Given the description of an element on the screen output the (x, y) to click on. 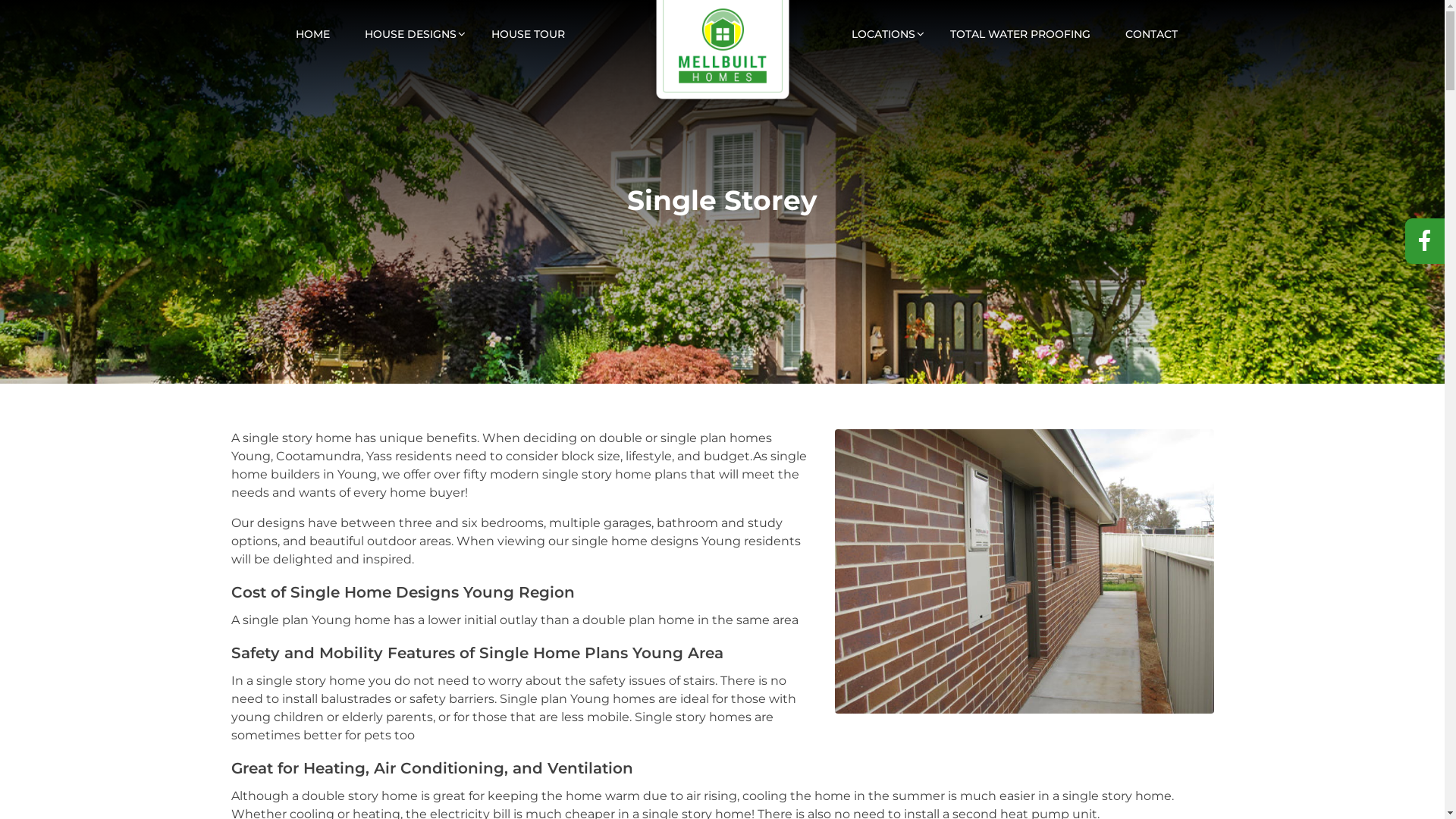
HOUSE TOUR Element type: text (528, 25)
HOUSE DESIGNS Element type: text (410, 25)
LOCATIONS Element type: text (883, 25)
CONTACT Element type: text (1150, 25)
TOTAL WATER PROOFING Element type: text (1019, 25)
HOME Element type: text (312, 25)
